Given the description of an element on the screen output the (x, y) to click on. 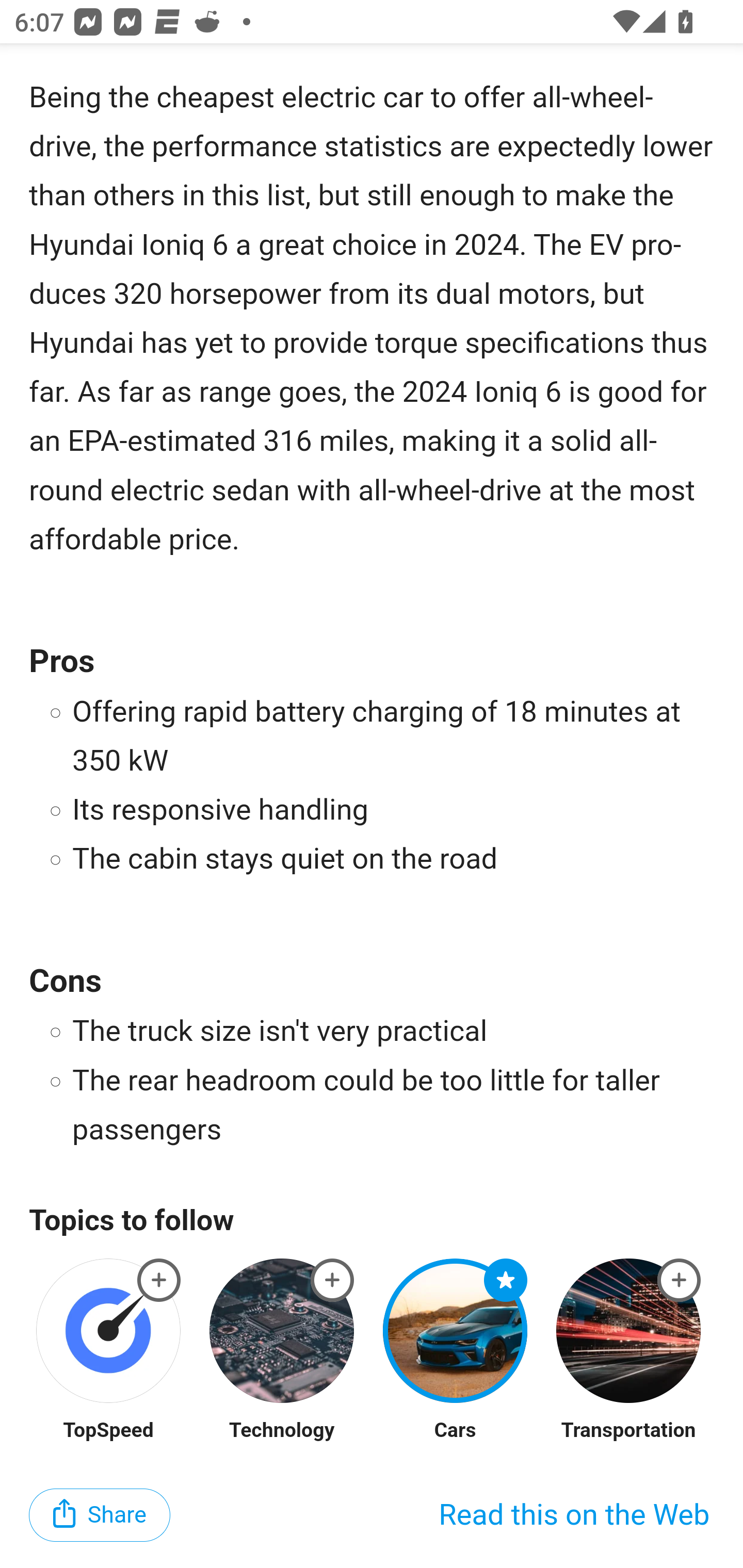
most-affordable-awd-electric-cars (159, 1280)
most-affordable-awd-electric-cars (332, 1280)
most-affordable-awd-electric-cars (505, 1280)
most-affordable-awd-electric-cars (679, 1280)
TopSpeed (108, 1431)
Technology (281, 1431)
Cars (455, 1431)
Transportation (627, 1431)
Read this on the Web (573, 1517)
Share (99, 1517)
